Given the description of an element on the screen output the (x, y) to click on. 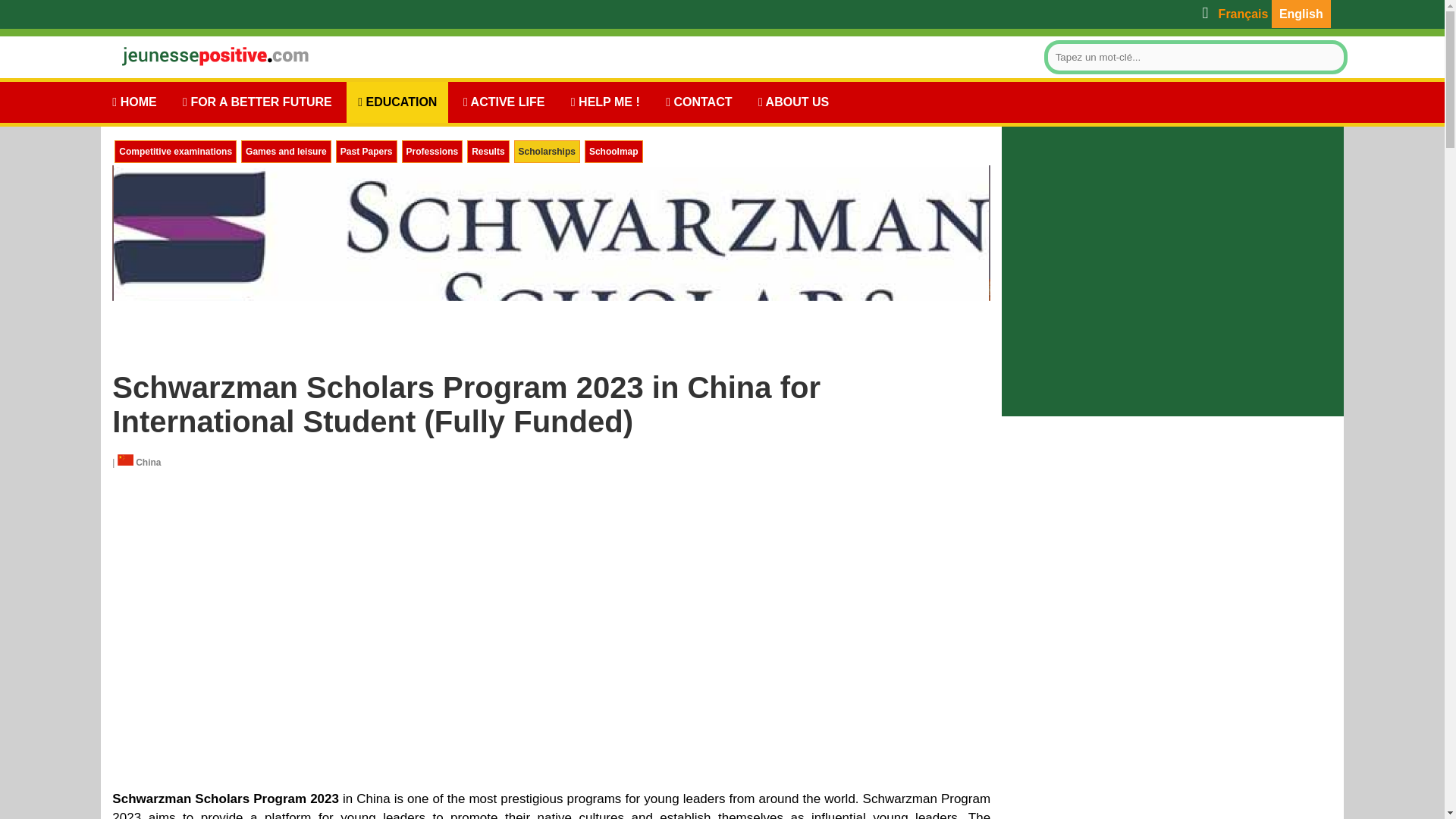
Competitive examinations (175, 151)
Results (487, 151)
EDUCATION (397, 101)
ACTIVE LIFE (503, 101)
FOR A BETTER FUTURE (257, 101)
jeunessePositive.com (206, 55)
ACTIVE LIFE (503, 101)
ABOUT US (793, 101)
HELP ME ! (604, 101)
HOME (133, 101)
